Given the description of an element on the screen output the (x, y) to click on. 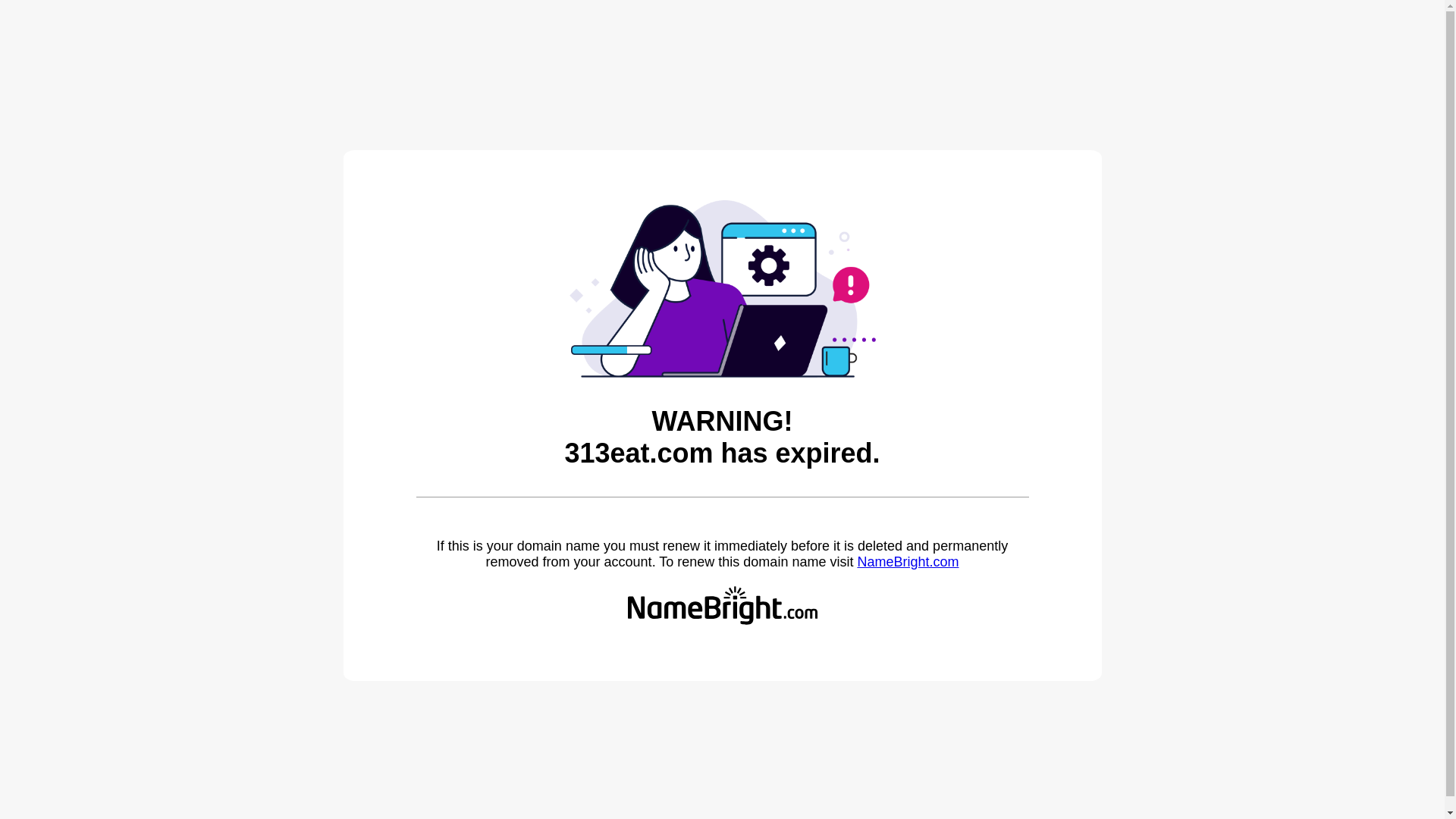
NameBright.com Element type: text (907, 561)
